Given the description of an element on the screen output the (x, y) to click on. 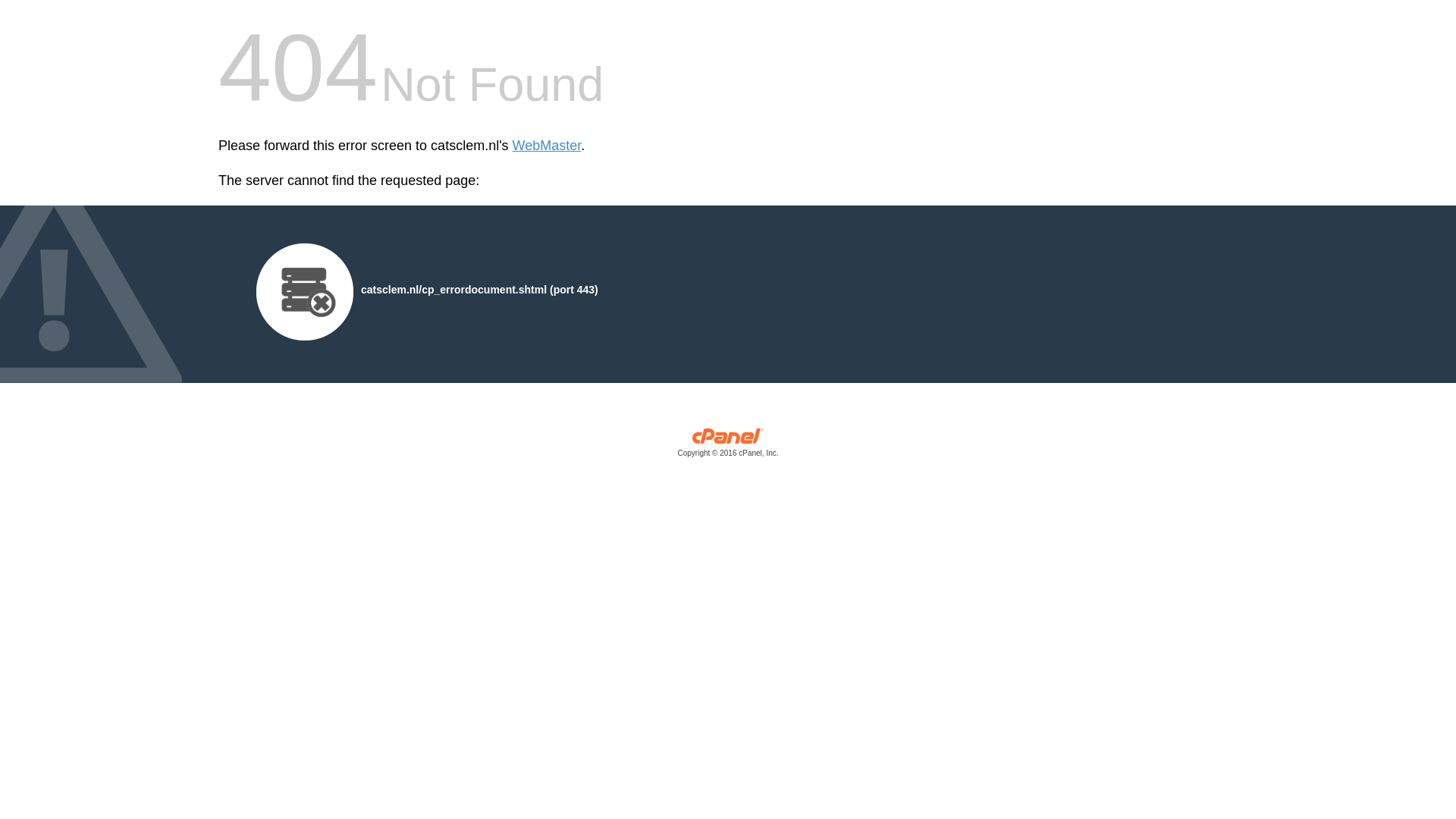
WebMaster (546, 145)
cPanel, Inc. (727, 446)
